Given the description of an element on the screen output the (x, y) to click on. 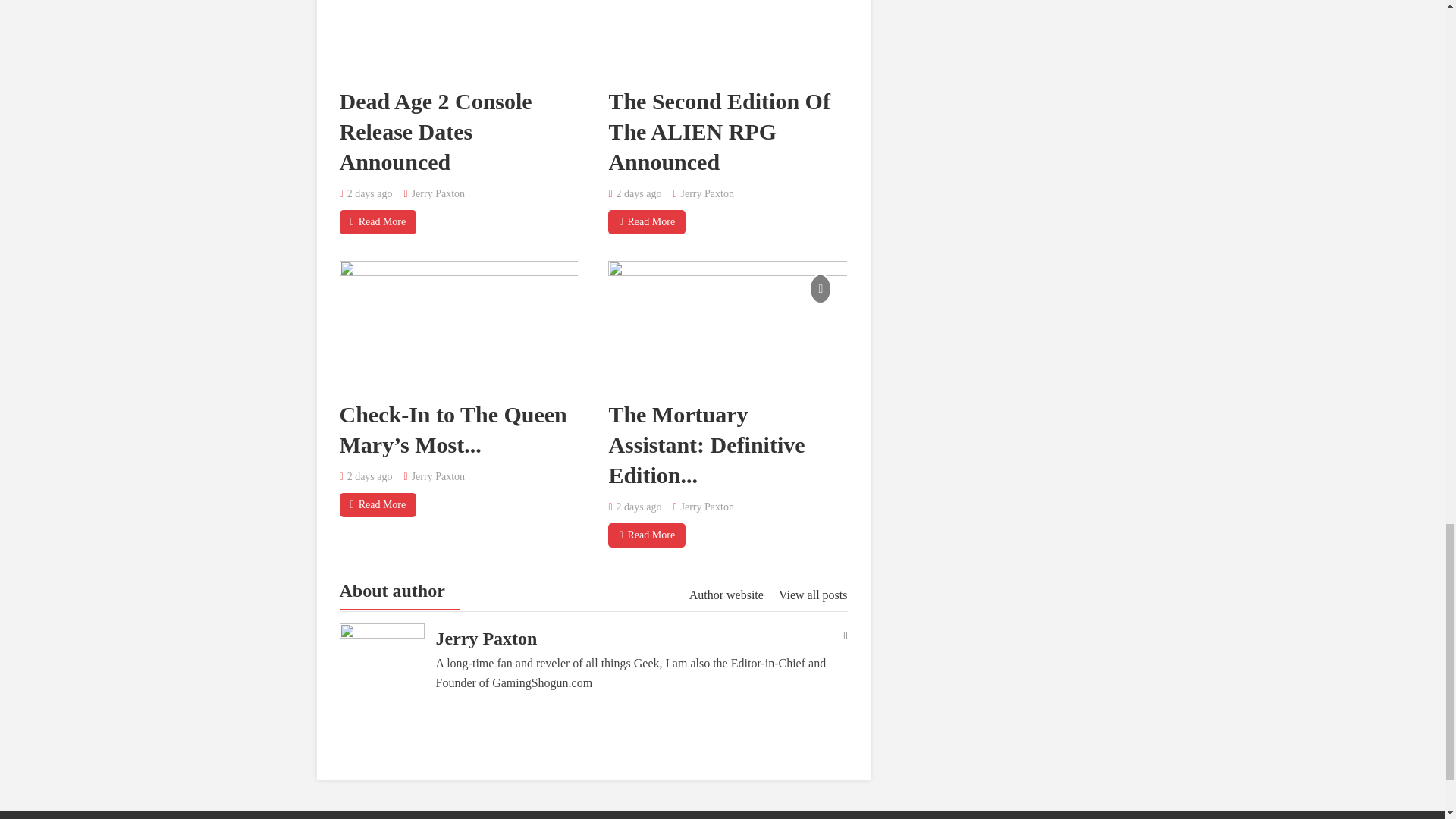
Dead Age 2 Console Release Dates Announced (435, 131)
Dead Age 2 Console Release Dates Announced (458, 37)
